Given the description of an element on the screen output the (x, y) to click on. 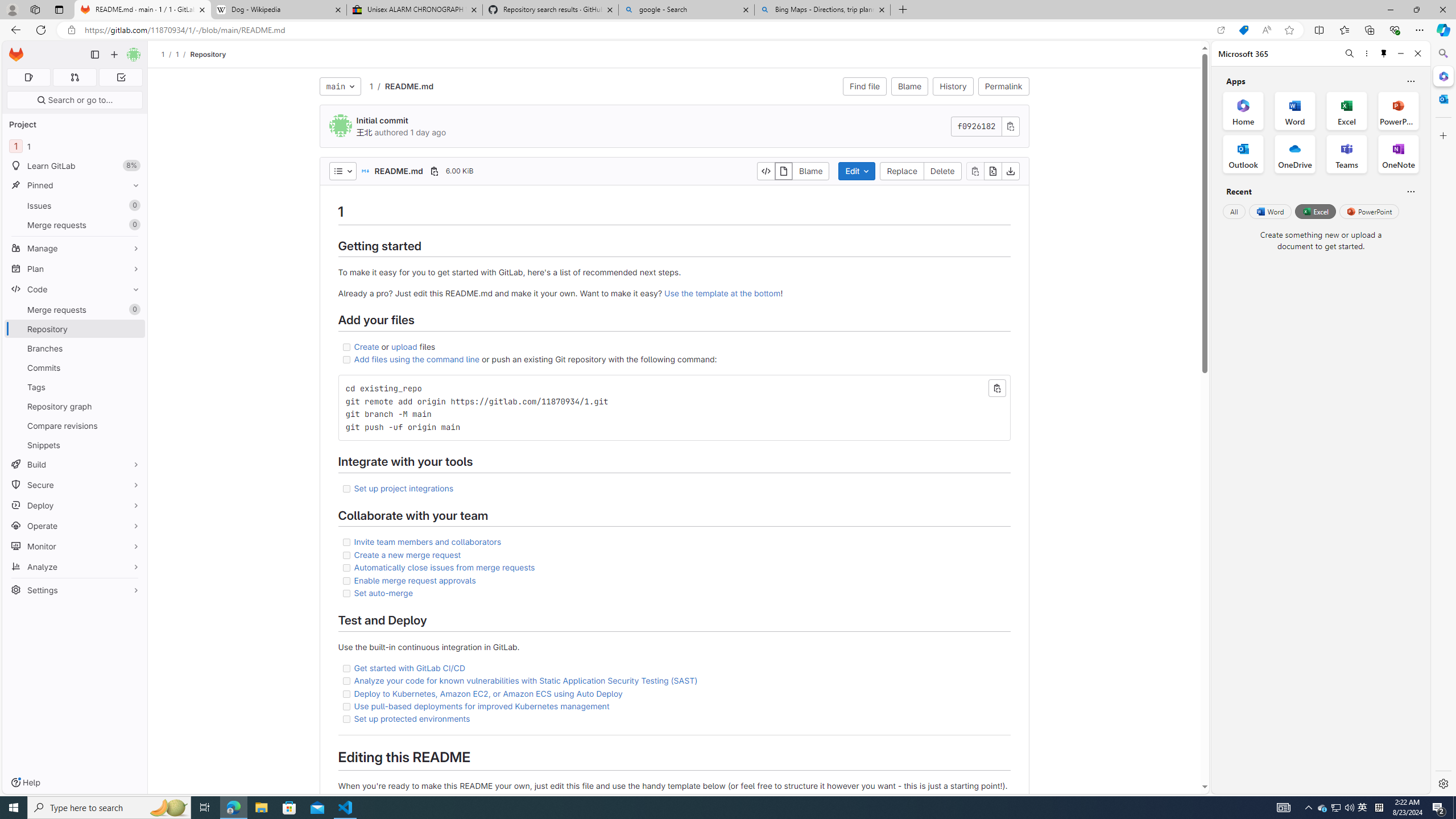
Set auto-merge (383, 592)
/README.md (402, 85)
Unpin Merge requests (132, 309)
Snippets (74, 444)
Build (74, 464)
To-Do list 0 (120, 76)
Invite team members and collaborators (673, 541)
Home Office App (1243, 110)
Help (25, 782)
Plan (74, 268)
Merge requests 0 (74, 309)
